Given the description of an element on the screen output the (x, y) to click on. 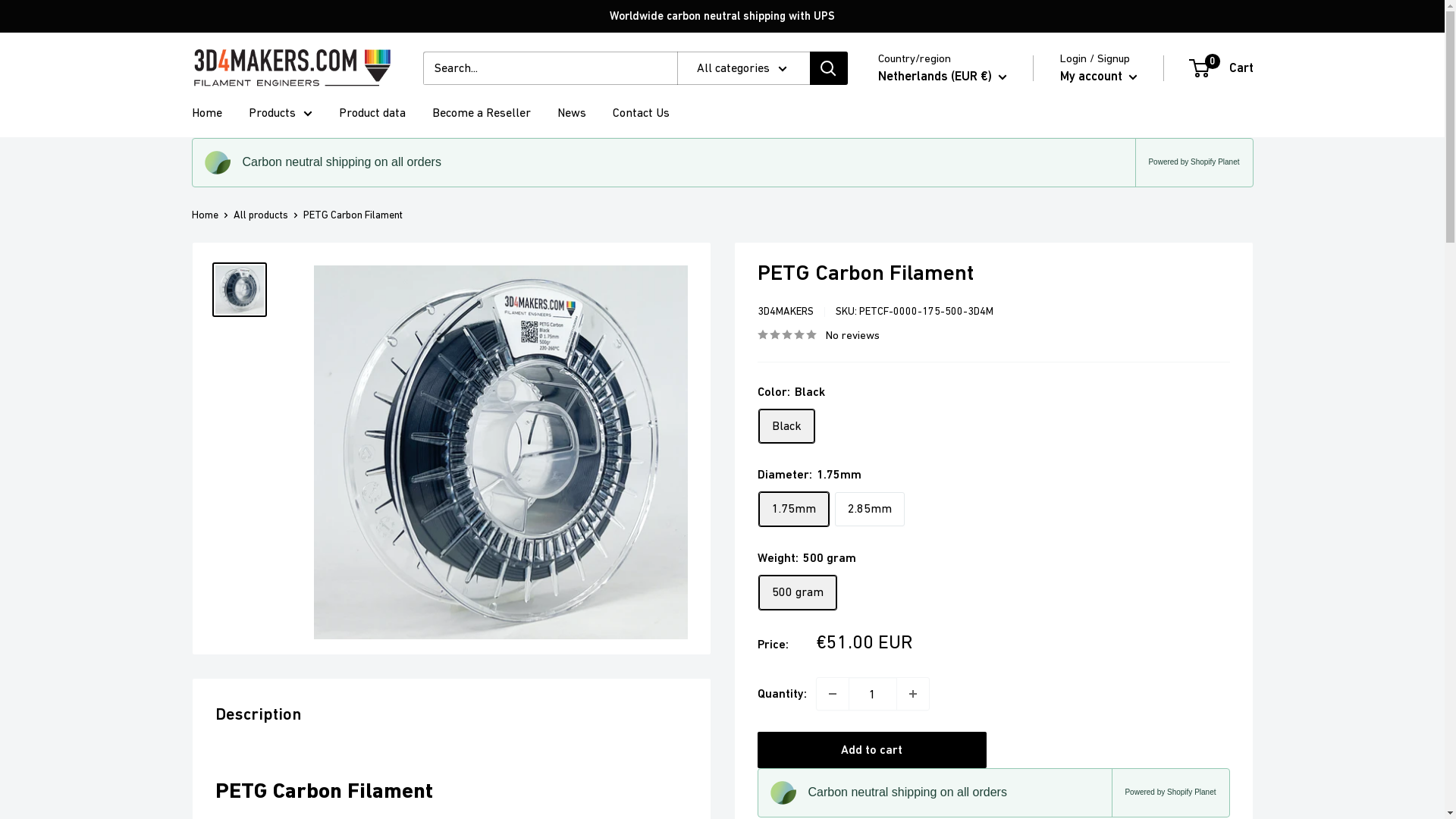
AM Element type: text (884, 335)
AW Element type: text (884, 358)
Increase quantity by 1 Element type: hover (912, 693)
3D4Makers.com | 3D Printing Filament Element type: text (291, 67)
AT Element type: text (884, 427)
AR Element type: text (884, 311)
Home Element type: text (206, 112)
Become a Reseller Element type: text (481, 112)
BM Element type: text (884, 658)
All products Element type: text (260, 214)
BT Element type: text (884, 682)
My account Element type: text (1098, 76)
AZ Element type: text (884, 451)
AI Element type: text (884, 265)
Decrease quantity by 1 Element type: hover (831, 693)
News Element type: text (570, 112)
Product data Element type: text (371, 112)
Products Element type: text (280, 112)
Contact Us Element type: text (640, 112)
BY Element type: text (884, 566)
AF Element type: text (884, 126)
AC Element type: text (884, 381)
AD Element type: text (884, 219)
AX Element type: text (884, 150)
BA Element type: text (884, 728)
AU Element type: text (884, 404)
3D4MAKERS Element type: text (784, 310)
BE Element type: text (884, 589)
BD Element type: text (884, 520)
BH Element type: text (884, 497)
BW Element type: text (884, 751)
AG Element type: text (884, 288)
DZ Element type: text (884, 196)
IO Element type: text (884, 797)
No reviews Element type: text (817, 334)
Add to cart Element type: text (871, 749)
BS Element type: text (884, 473)
BR Element type: text (884, 774)
AL Element type: text (884, 172)
BO Element type: text (884, 705)
Home Element type: text (204, 214)
0
Cart Element type: text (1221, 68)
BB Element type: text (884, 543)
BZ Element type: text (884, 612)
AO Element type: text (884, 242)
BJ Element type: text (884, 636)
